Given the description of an element on the screen output the (x, y) to click on. 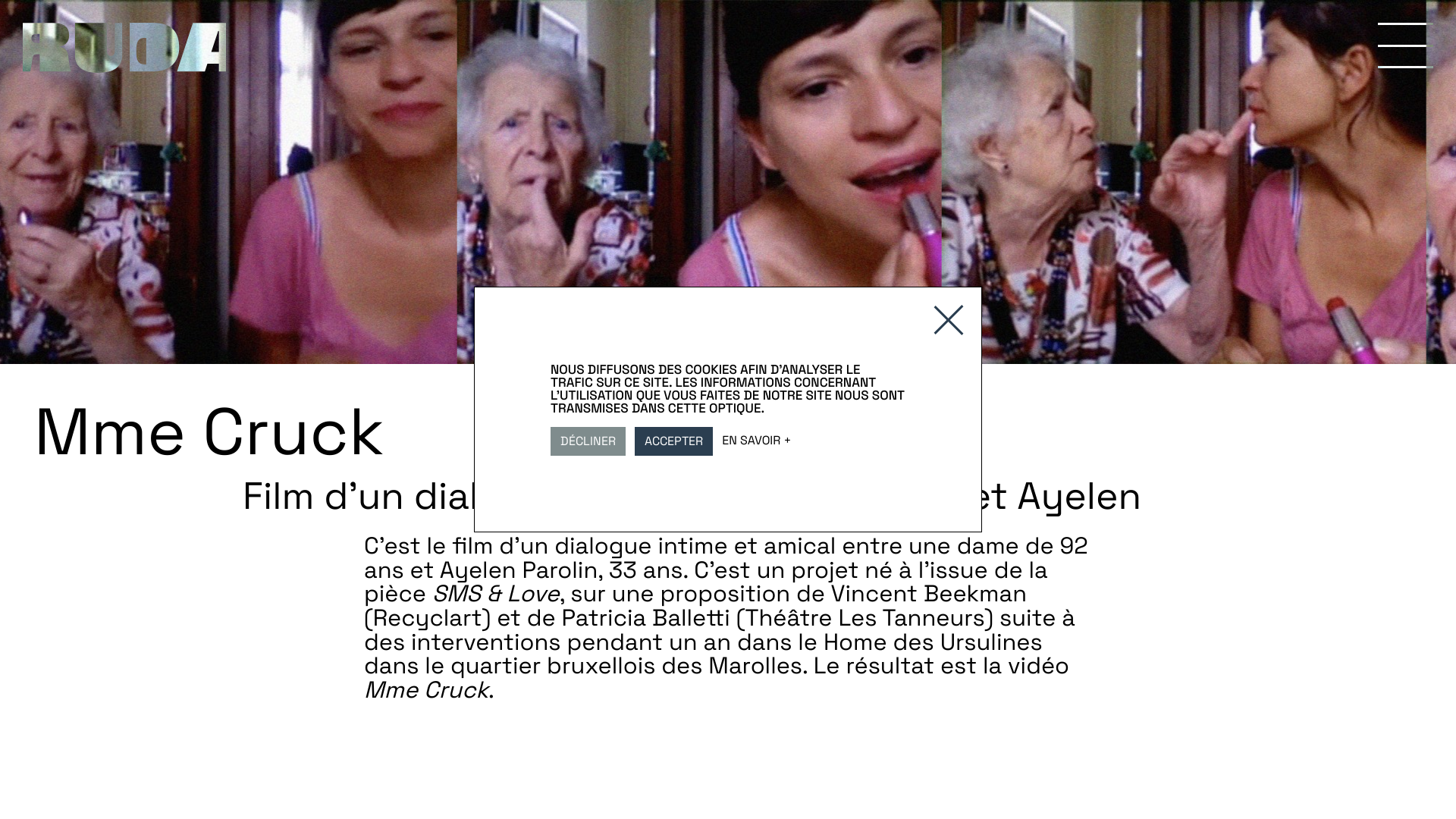
AYELEN  PAROLIN Element type: text (393, 47)
ACCEPTER Element type: text (673, 440)
EN SAVOIR + Element type: text (755, 440)
